Given the description of an element on the screen output the (x, y) to click on. 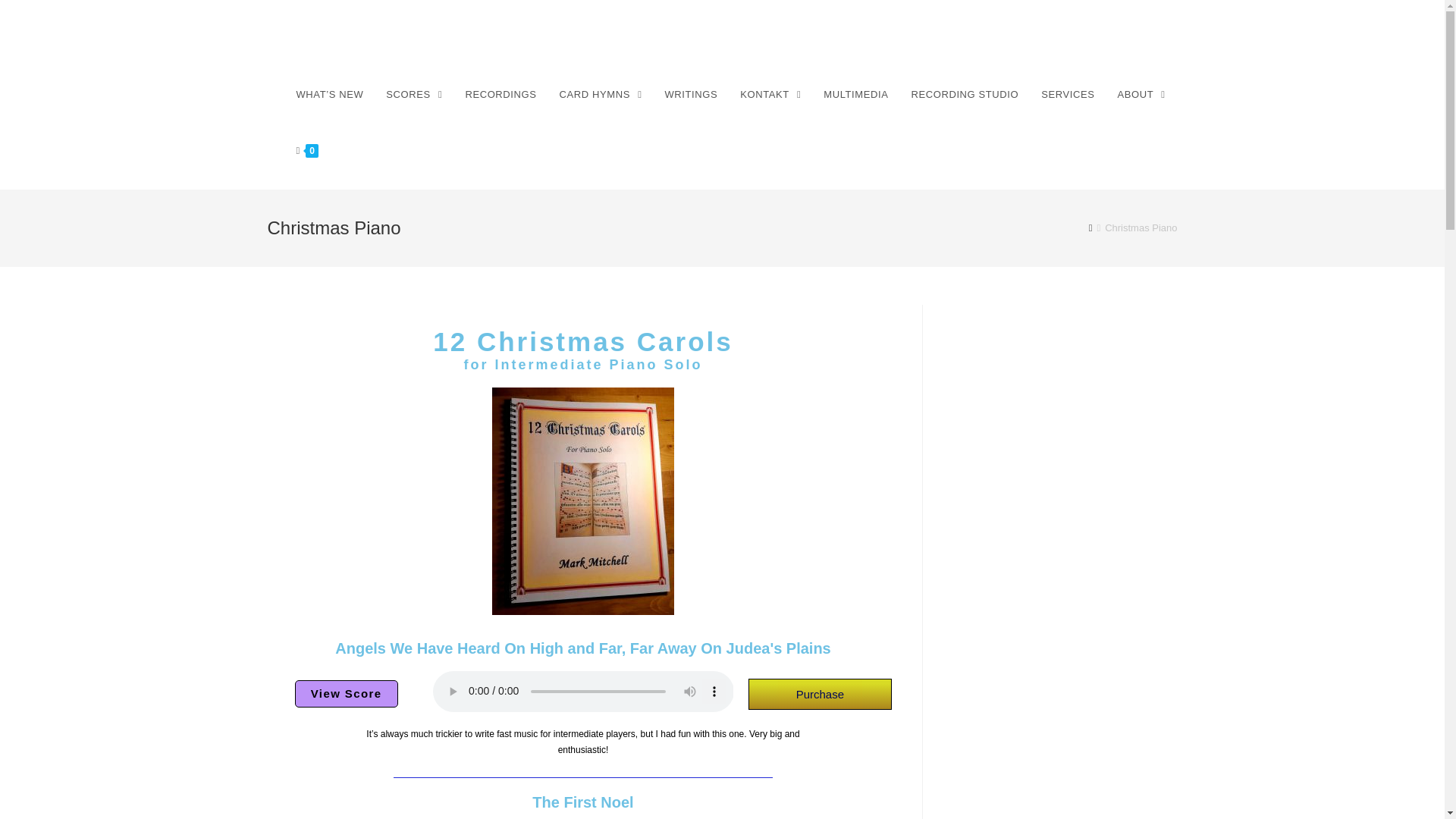
SERVICES (1067, 94)
SCORES (413, 94)
WRITINGS (690, 94)
ABOUT (1141, 94)
CARD HYMNS (600, 94)
MULTIMEDIA (855, 94)
Mark Mitchell Music (367, 38)
RECORDINGS (499, 94)
KONTAKT (770, 94)
RECORDING STUDIO (964, 94)
